Given the description of an element on the screen output the (x, y) to click on. 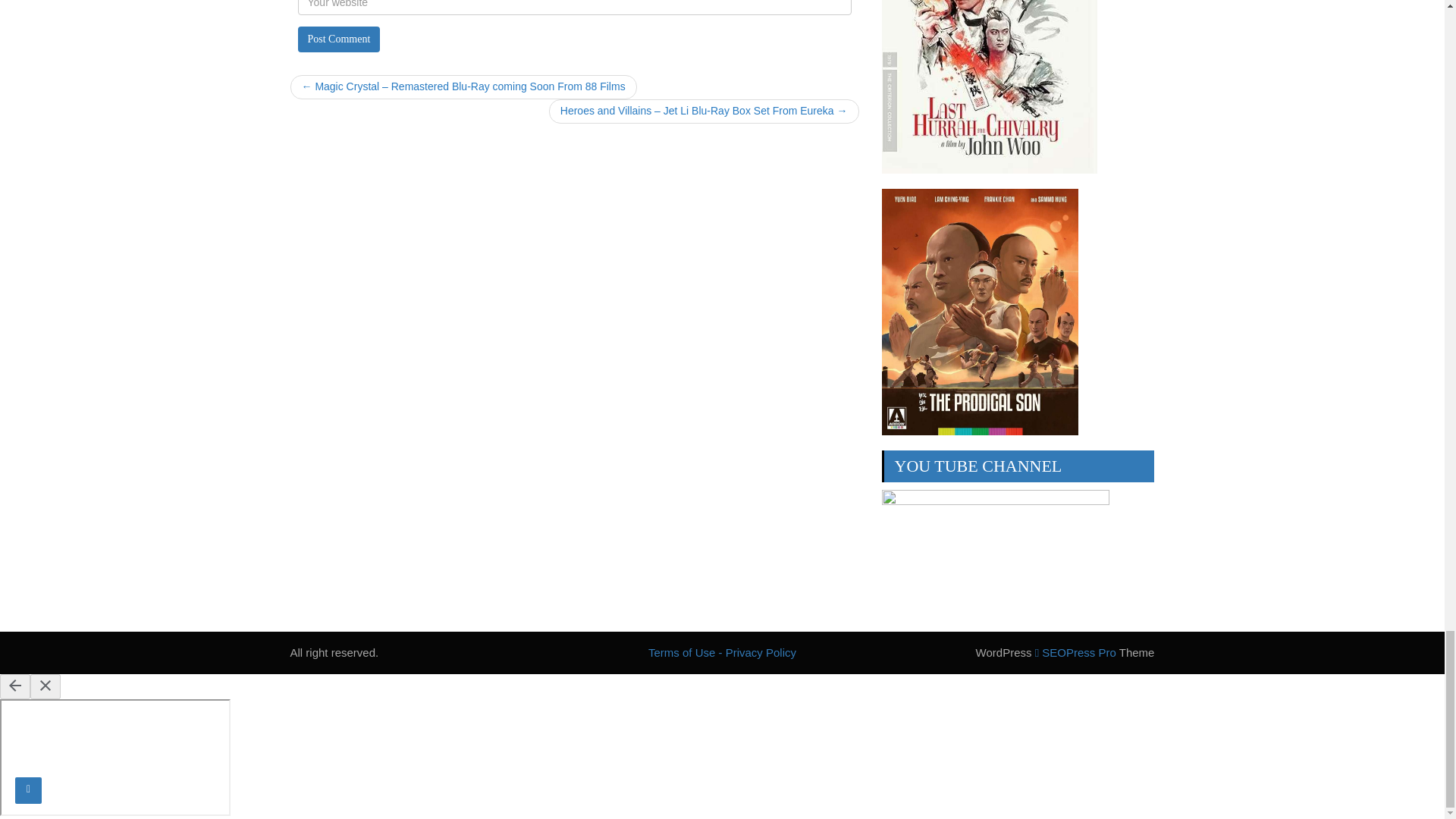
Post Comment (338, 39)
Post Comment (338, 39)
